Given the description of an element on the screen output the (x, y) to click on. 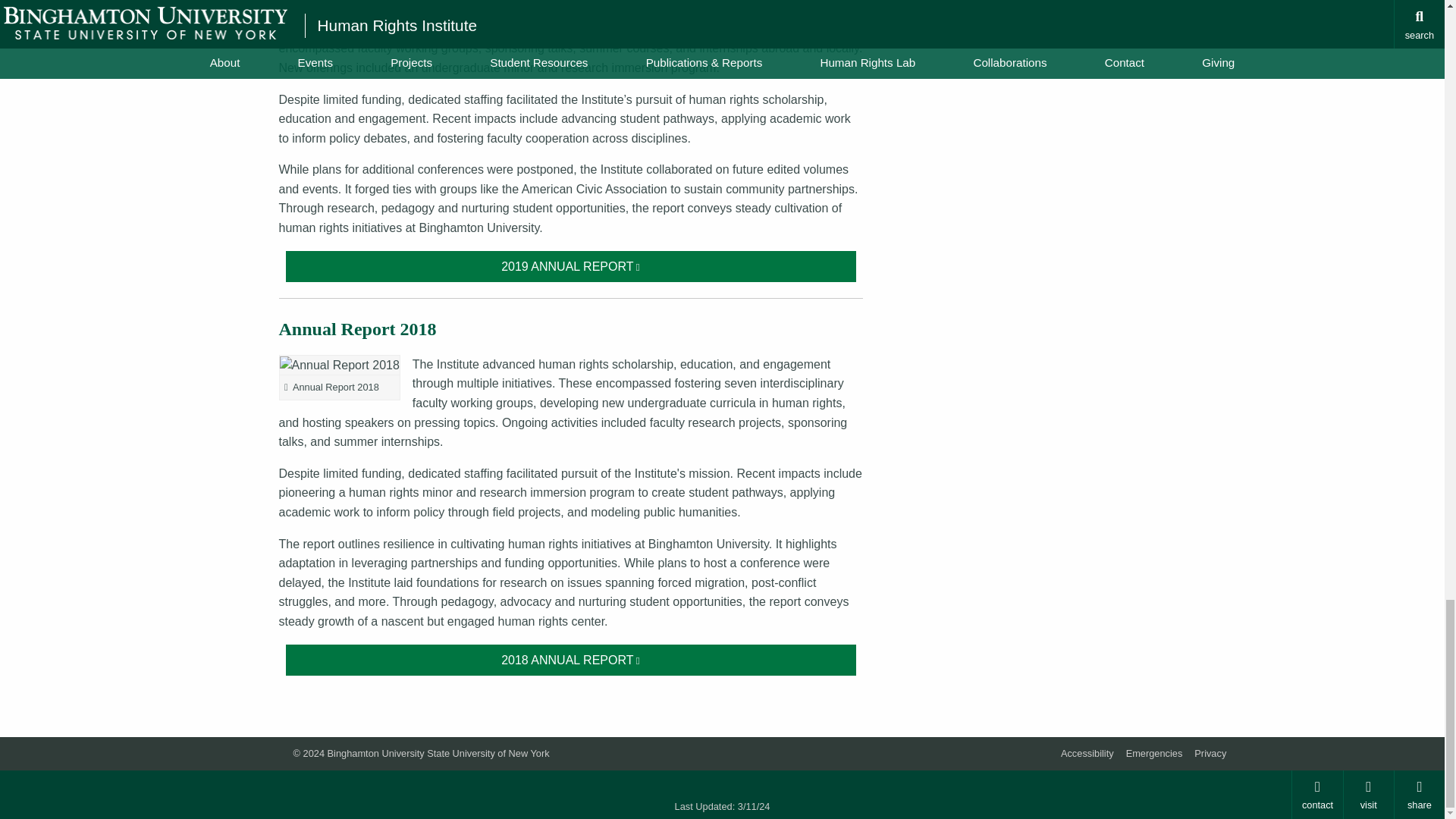
2019 ANNUAL REPORT (571, 266)
2018 ANNUAL REPORT (571, 660)
2018 Annual Report (571, 660)
